Given the description of an element on the screen output the (x, y) to click on. 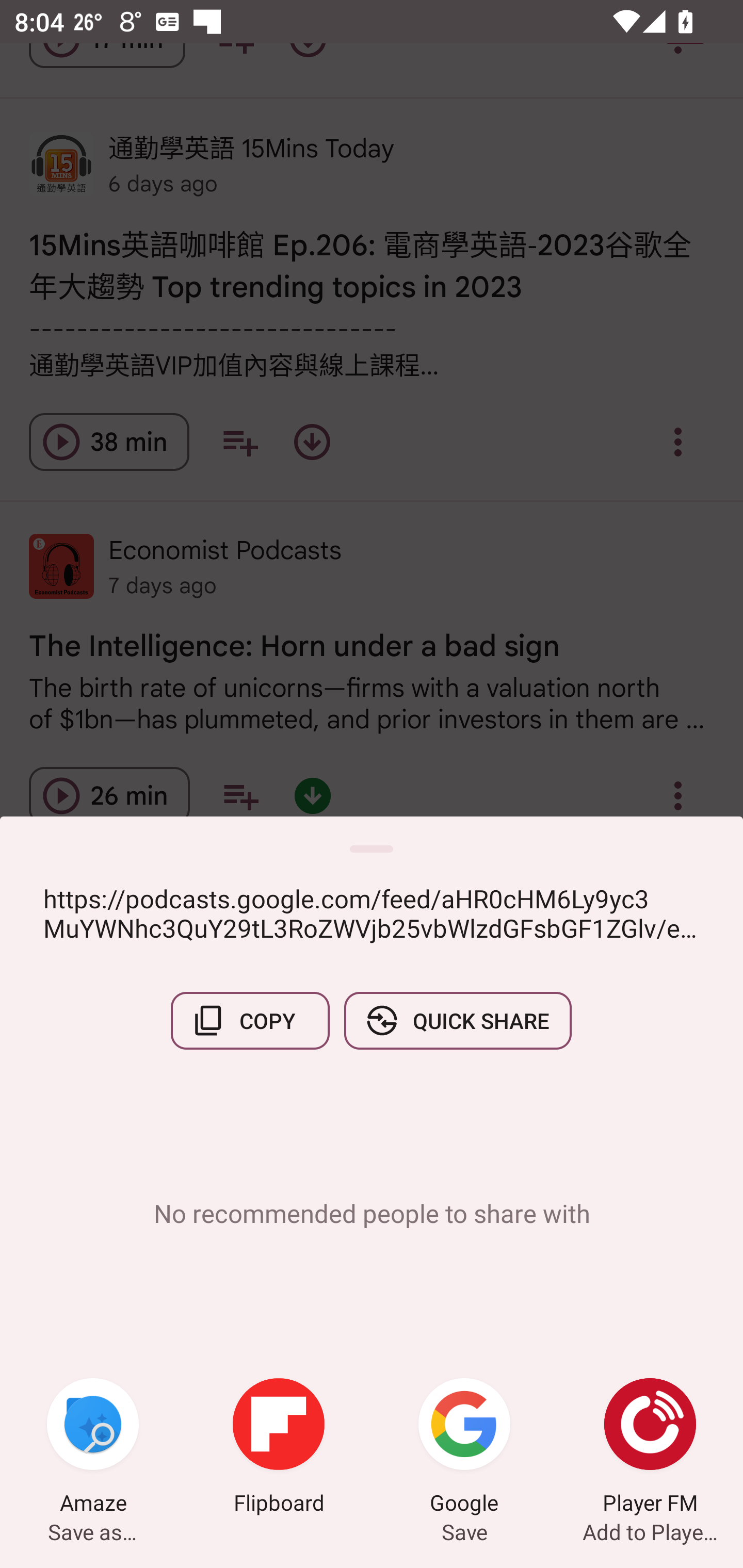
COPY (249, 1020)
QUICK SHARE (457, 1020)
Amaze Save as… (92, 1448)
Flipboard (278, 1448)
Google Save (464, 1448)
Player FM Add to Player FM (650, 1448)
